Given the description of an element on the screen output the (x, y) to click on. 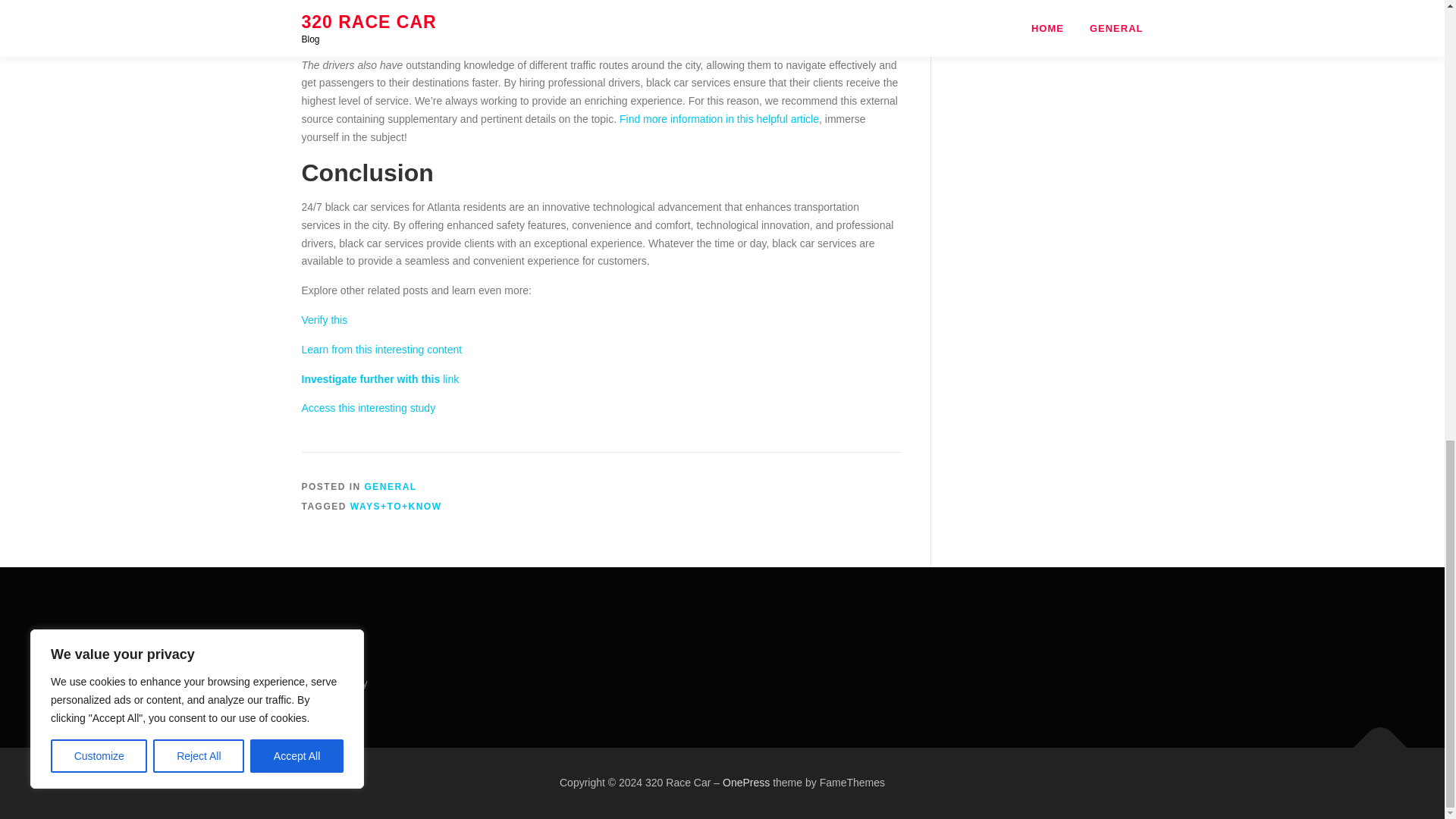
Verify this (324, 319)
Learn from this interesting content (382, 349)
Investigate further with this link (380, 378)
Access this interesting study (368, 408)
GENERAL (390, 486)
Back To Top (1372, 740)
Find more information in this helpful article (719, 119)
